Given the description of an element on the screen output the (x, y) to click on. 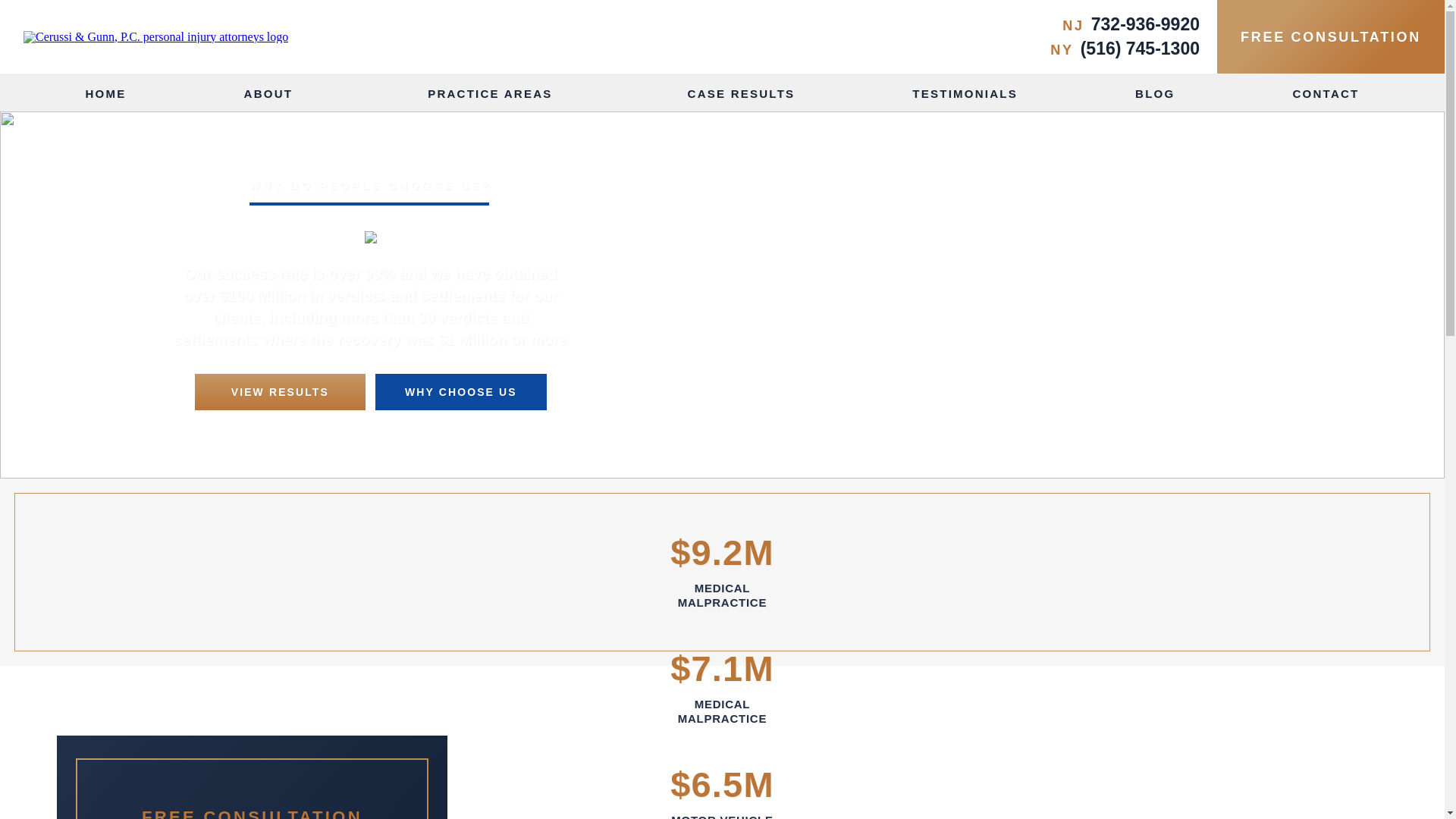
VIEW RESULTS (280, 391)
TESTIMONIALS (964, 92)
PRACTICE AREAS (498, 92)
HOME (104, 92)
CONTACT (1325, 92)
BLOG (1154, 92)
WHY CHOOSE US (461, 391)
ABOUT (277, 92)
CASE RESULTS (740, 92)
732-936-9920 (1144, 24)
